Given the description of an element on the screen output the (x, y) to click on. 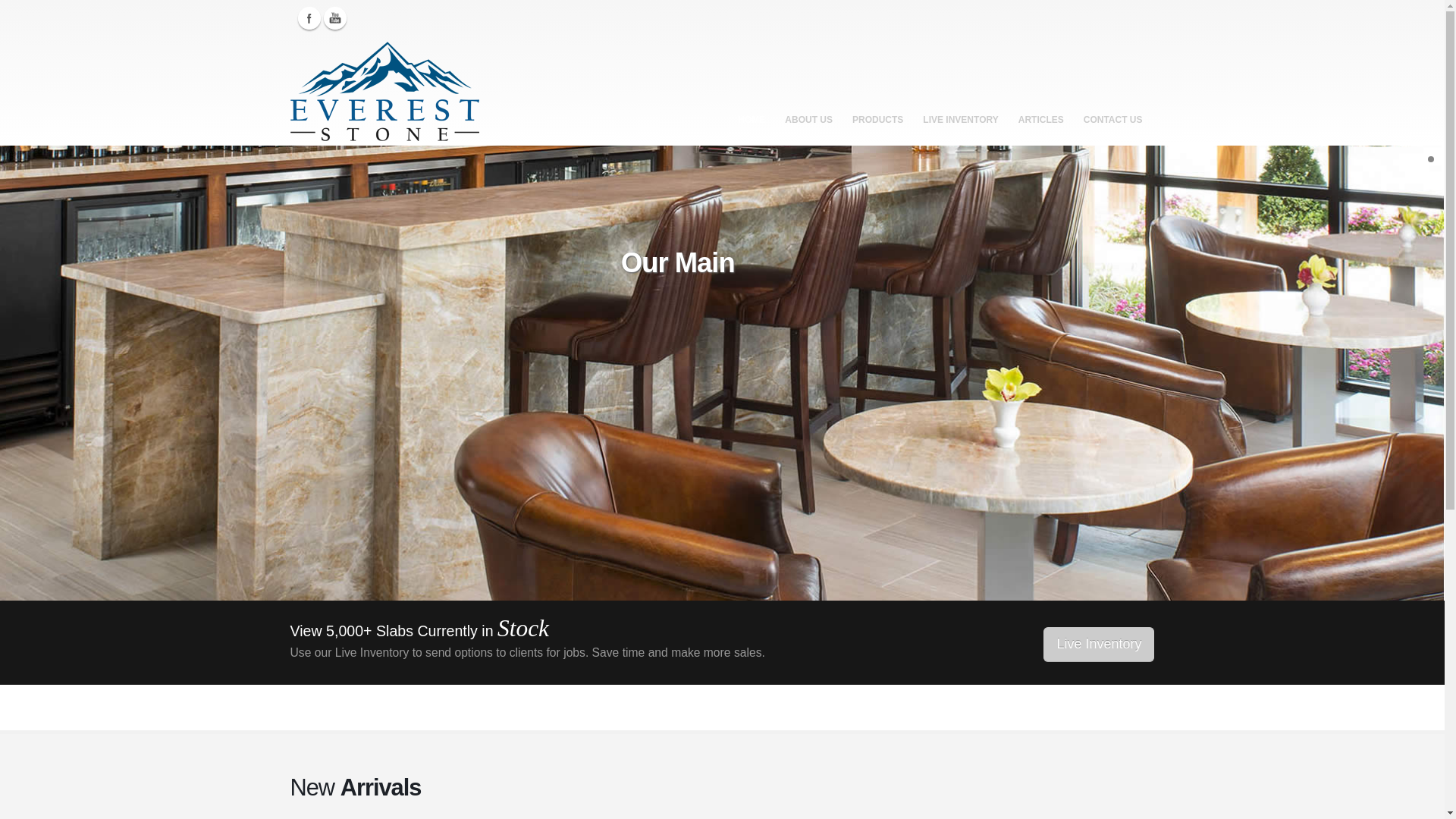
LIVE INVENTORY (959, 107)
Everest Stone Facebook (308, 17)
Facebook (308, 17)
Everest Stone YouTube (334, 17)
YouTube (334, 17)
Everest Stone (387, 92)
CONTACT US (1113, 107)
Live Inventory (1098, 644)
PRODUCTS (877, 107)
ABOUT US (808, 107)
